Given the description of an element on the screen output the (x, y) to click on. 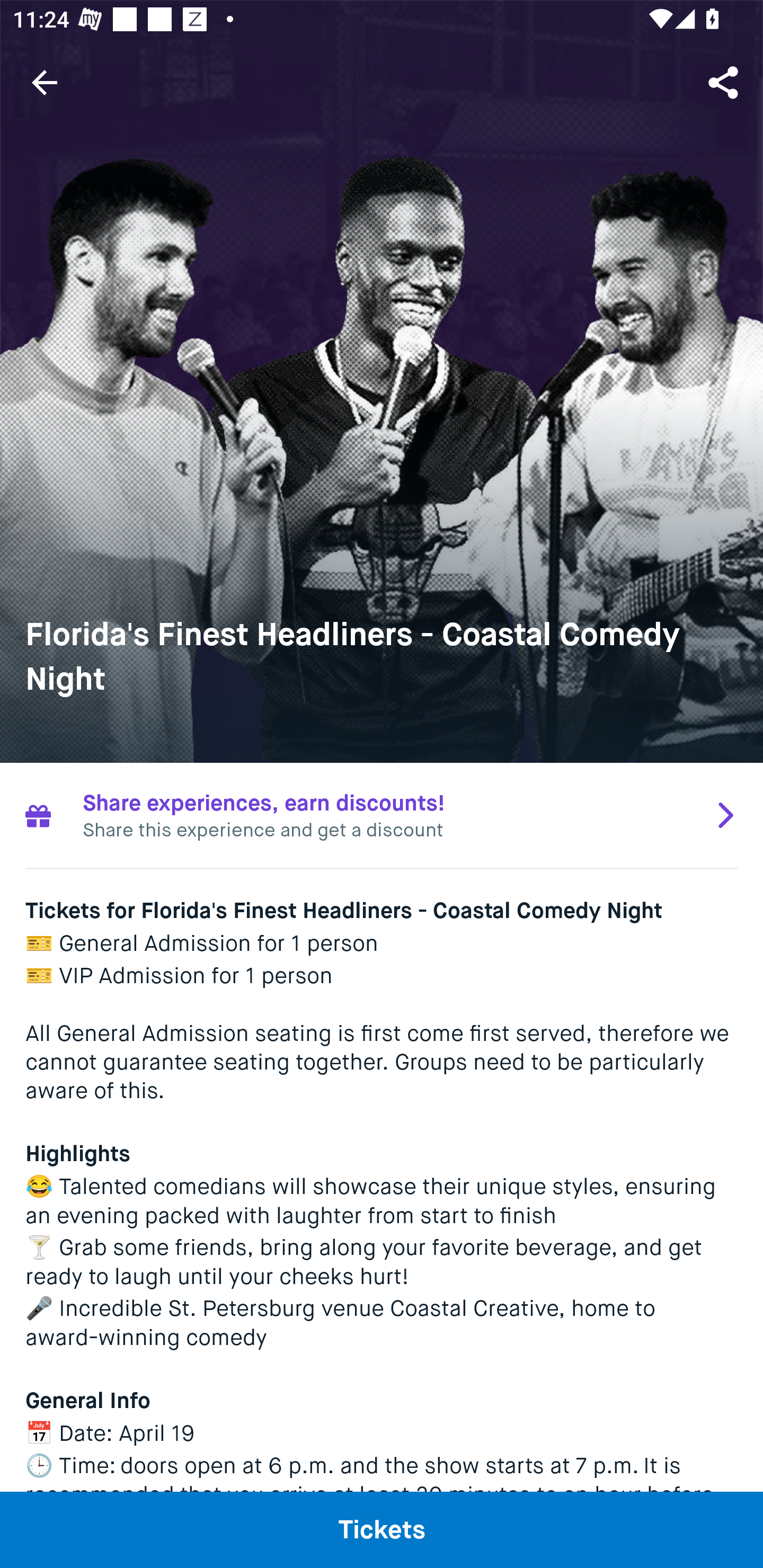
Navigate up (44, 82)
Share (724, 81)
Tickets (381, 1529)
